Given the description of an element on the screen output the (x, y) to click on. 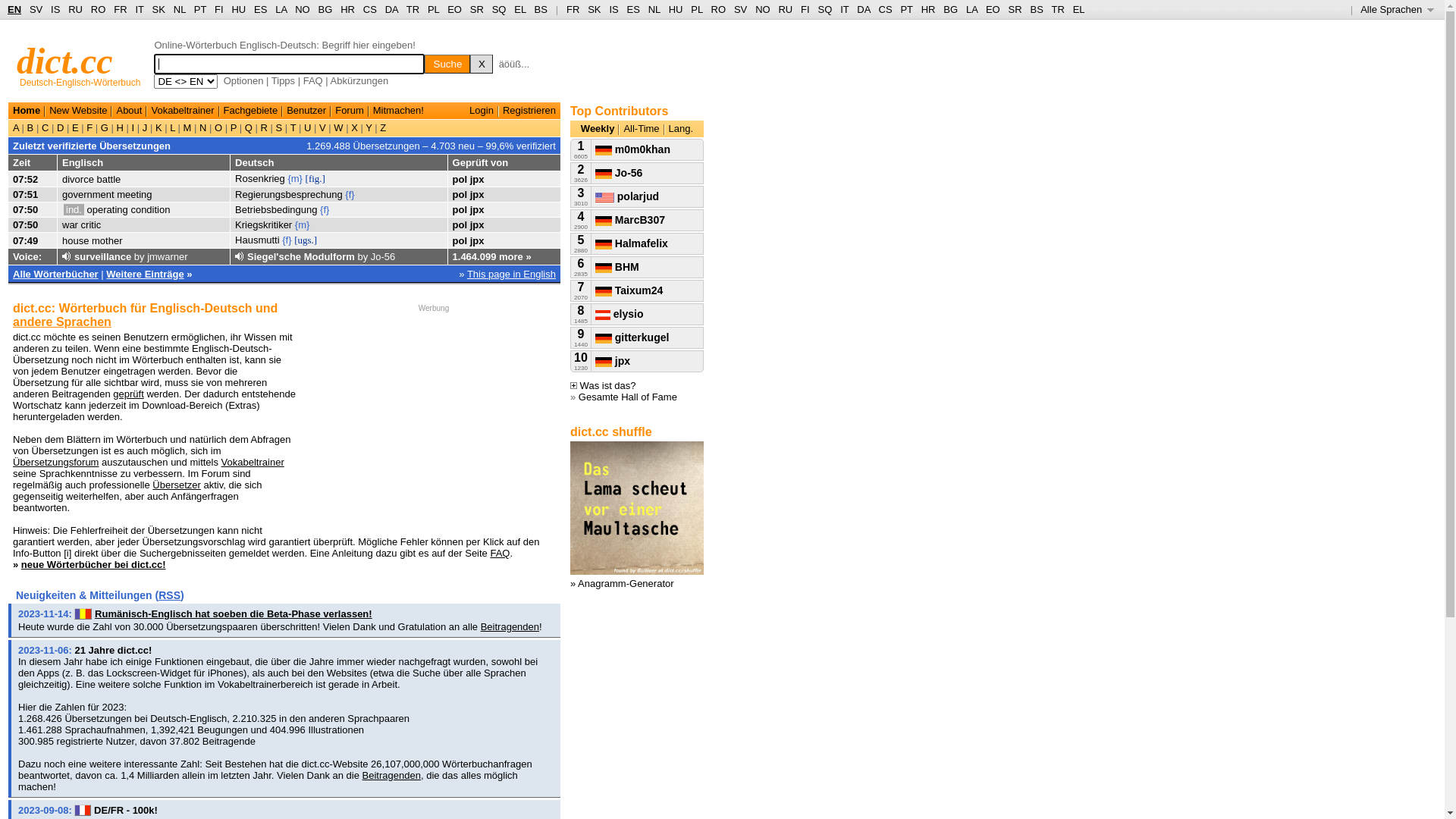
operating condition Element type: text (128, 209)
CS Element type: text (369, 9)
SQ Element type: text (499, 9)
RU Element type: text (785, 9)
EN Element type: text (14, 9)
BG Element type: text (950, 9)
Y Element type: text (368, 127)
PT Element type: text (200, 9)
Gesamte Hall of Fame Element type: text (627, 396)
BS Element type: text (540, 9)
BHM Element type: text (617, 266)
N Element type: text (202, 127)
Voice: Element type: text (26, 256)
W Element type: text (338, 127)
R Element type: text (263, 127)
Q Element type: text (247, 127)
Vokabeltrainer Element type: text (181, 110)
New Website Element type: text (77, 110)
CS Element type: text (884, 9)
LA Element type: text (971, 9)
government meeting Element type: text (107, 194)
NO Element type: text (762, 9)
divorce battle Element type: text (91, 178)
jpx Element type: text (612, 360)
SR Element type: text (1015, 9)
Benutzer Element type: text (306, 110)
07:52 Element type: text (24, 178)
NL Element type: text (179, 9)
Home Element type: text (26, 110)
E Element type: text (75, 127)
X Element type: text (481, 63)
C Element type: text (44, 127)
HR Element type: text (347, 9)
V Element type: text (322, 127)
All-Time Element type: text (640, 128)
jpx Element type: text (477, 194)
EO Element type: text (454, 9)
jpx Element type: text (477, 209)
NL Element type: text (654, 9)
07:51 Element type: text (24, 194)
pol Element type: text (459, 178)
ind. Element type: text (73, 209)
gitterkugel Element type: text (631, 337)
FR Element type: text (572, 9)
FAQ Element type: text (313, 80)
jmwarner Element type: text (167, 256)
jpx Element type: text (477, 240)
T Element type: text (292, 127)
dict.cc Element type: text (64, 60)
Taixum24 Element type: text (628, 290)
SV Element type: text (35, 9)
pol Element type: text (459, 224)
Beitragenden Element type: text (509, 626)
Lang. Element type: text (680, 128)
Z Element type: text (381, 127)
pol Element type: text (459, 209)
B Element type: text (30, 127)
DA Element type: text (862, 9)
EL Element type: text (519, 9)
Jo-56 Element type: text (618, 172)
This page in English Element type: text (511, 273)
DA Element type: text (391, 9)
RU Element type: text (75, 9)
HU Element type: text (238, 9)
F Element type: text (89, 127)
Forum Element type: text (349, 110)
G Element type: text (103, 127)
NO Element type: text (302, 9)
HU Element type: text (675, 9)
Weekly Element type: text (597, 128)
MarcB307 Element type: text (630, 219)
HR Element type: text (928, 9)
IS Element type: text (613, 9)
M Element type: text (187, 127)
andere Sprachen Element type: text (61, 321)
H Element type: text (119, 127)
Optionen Element type: text (243, 80)
X Element type: text (354, 127)
FI Element type: text (804, 9)
house mother Element type: text (92, 240)
ES Element type: text (260, 9)
polarjud Element type: text (626, 196)
D Element type: text (59, 127)
Halmafelix Element type: text (631, 243)
Siegel'sche Modulform Element type: text (300, 256)
P Element type: text (233, 127)
jpx Element type: text (477, 178)
TR Element type: text (412, 9)
SK Element type: text (158, 9)
S Element type: text (279, 127)
A Element type: text (16, 127)
Jo-56 Element type: text (382, 256)
FI Element type: text (218, 9)
RO Element type: text (98, 9)
war critic Element type: text (81, 224)
TR Element type: text (1057, 9)
IT Element type: text (844, 9)
FR Element type: text (119, 9)
PL Element type: text (696, 9)
Alle Sprachen  Element type: text (1397, 9)
U Element type: text (307, 127)
Fachgebiete Element type: text (250, 110)
Tipps Element type: text (282, 80)
IS Element type: text (54, 9)
Suche Element type: text (447, 63)
RSS Element type: text (169, 595)
surveillance Element type: text (102, 256)
pol Element type: text (459, 240)
PL Element type: text (433, 9)
07:50 Element type: text (24, 209)
LA Element type: text (280, 9)
m0m0khan Element type: text (632, 149)
jpx Element type: text (477, 224)
EO Element type: text (992, 9)
pol Element type: text (459, 194)
SQ Element type: text (824, 9)
SK Element type: text (593, 9)
PT Element type: text (906, 9)
K Element type: text (158, 127)
L Element type: text (172, 127)
07:49 Element type: text (24, 240)
Vokabeltrainer Element type: text (252, 461)
Registrieren Element type: text (528, 110)
EL Element type: text (1079, 9)
Mitmachen! Element type: text (398, 110)
elysio Element type: text (619, 313)
I Element type: text (132, 127)
BG Element type: text (325, 9)
Beitragenden Element type: text (391, 775)
O Element type: text (217, 127)
SV Element type: text (740, 9)
J Element type: text (144, 127)
Login Element type: text (481, 110)
SR Element type: text (476, 9)
IT Element type: text (138, 9)
ES Element type: text (633, 9)
About Element type: text (128, 110)
FAQ Element type: text (499, 552)
RO Element type: text (718, 9)
Was ist das? Element type: text (603, 385)
BS Element type: text (1035, 9)
07:50 Element type: text (24, 224)
